Given the description of an element on the screen output the (x, y) to click on. 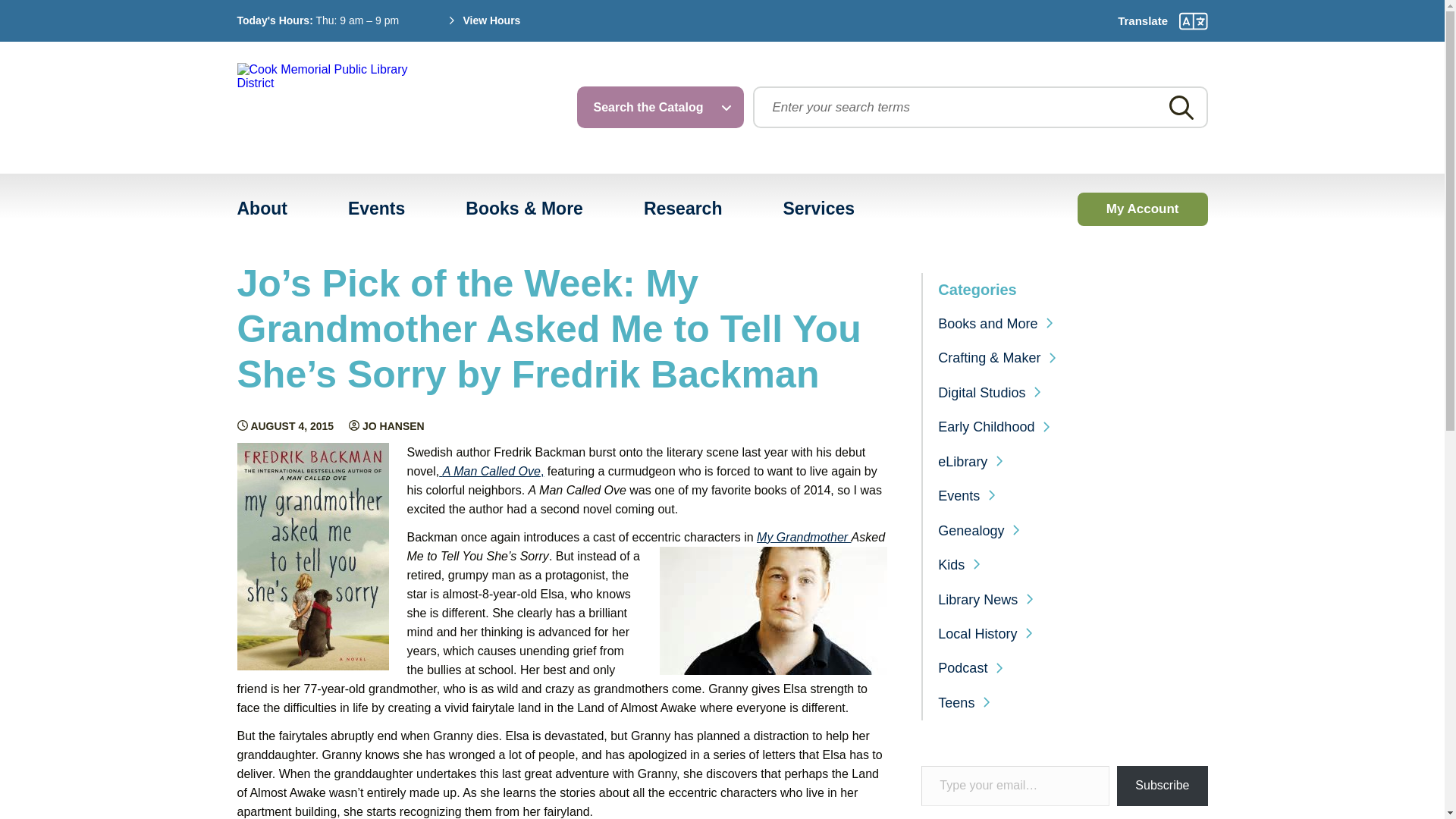
About (261, 209)
Events (376, 209)
Please fill in this field. (1015, 785)
